Given the description of an element on the screen output the (x, y) to click on. 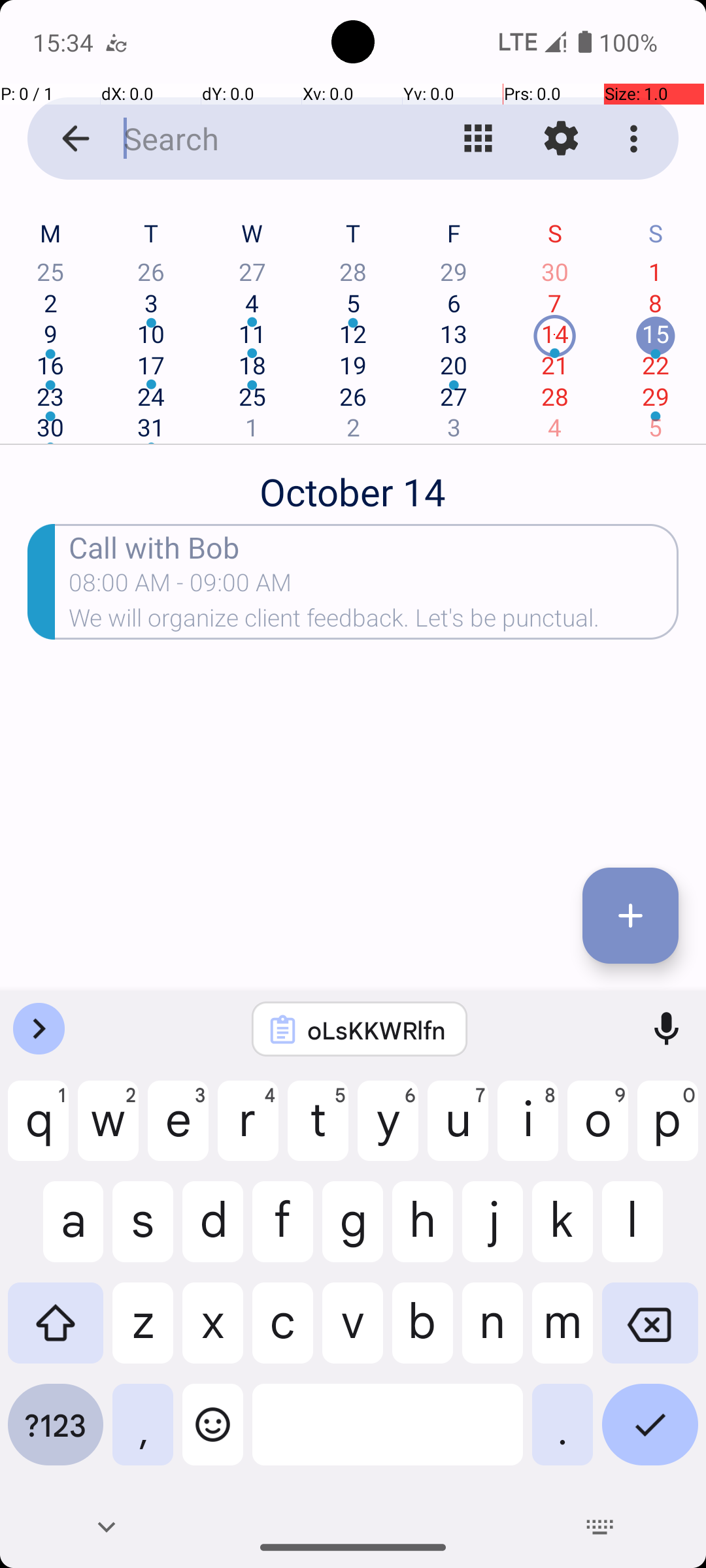
October 14 Element type: android.widget.TextView (352, 483)
Call with Bob Element type: android.widget.TextView (373, 546)
08:00 AM - 09:00 AM Element type: android.widget.TextView (179, 586)
We will organize client feedback. Let's be punctual. Element type: android.widget.TextView (373, 621)
oLsKKWRlfn Element type: android.widget.TextView (376, 1029)
